Given the description of an element on the screen output the (x, y) to click on. 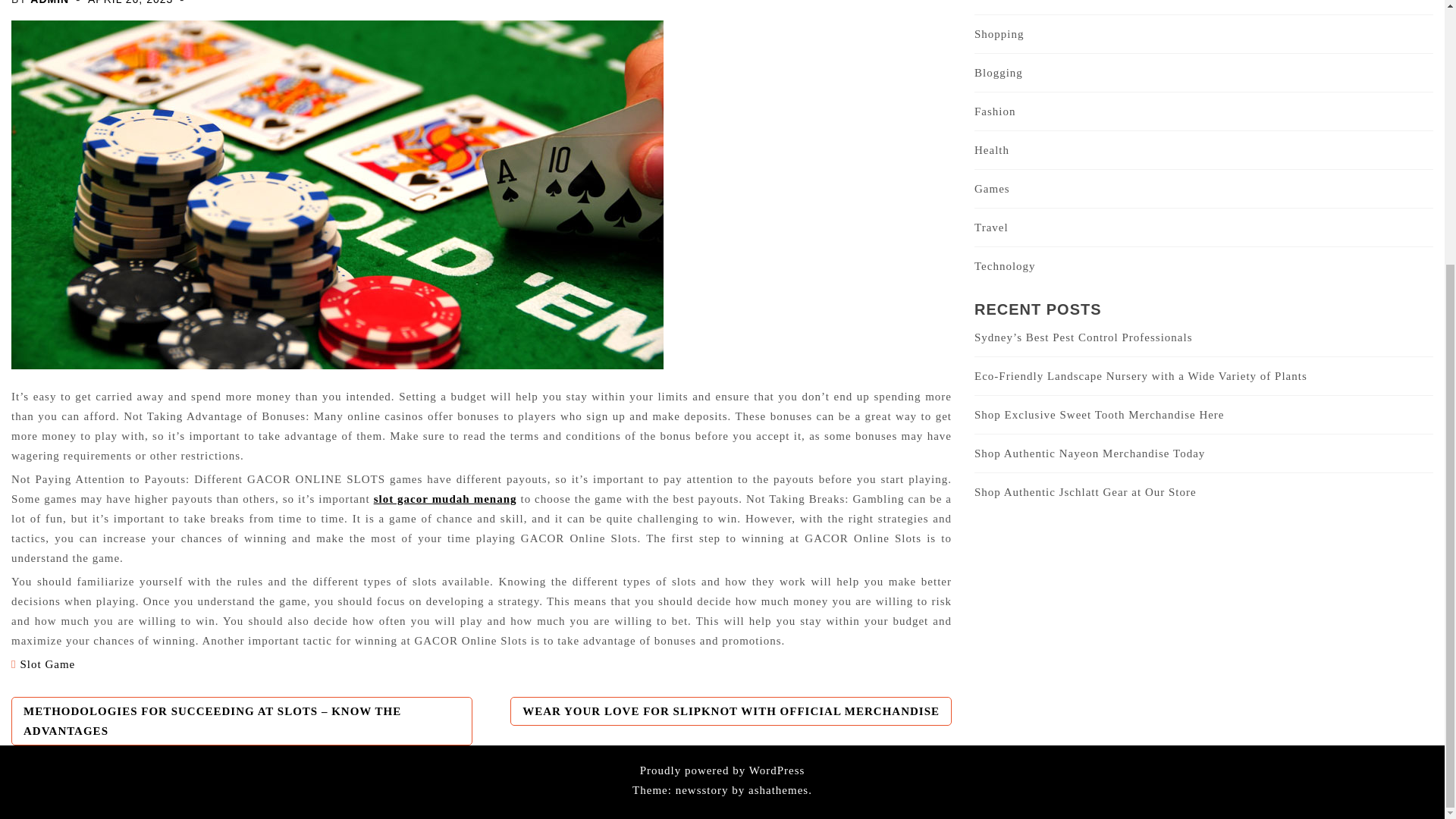
Health (991, 150)
ADMIN (49, 2)
Fashion (995, 111)
Travel (991, 227)
APRIL 26, 2023 (130, 2)
Business (997, 0)
Games (992, 188)
Slot Game (47, 663)
WEAR YOUR LOVE FOR SLIPKNOT WITH OFFICIAL MERCHANDISE (731, 710)
slot gacor mudah menang (445, 498)
Blogging (998, 72)
Shopping (999, 33)
